Given the description of an element on the screen output the (x, y) to click on. 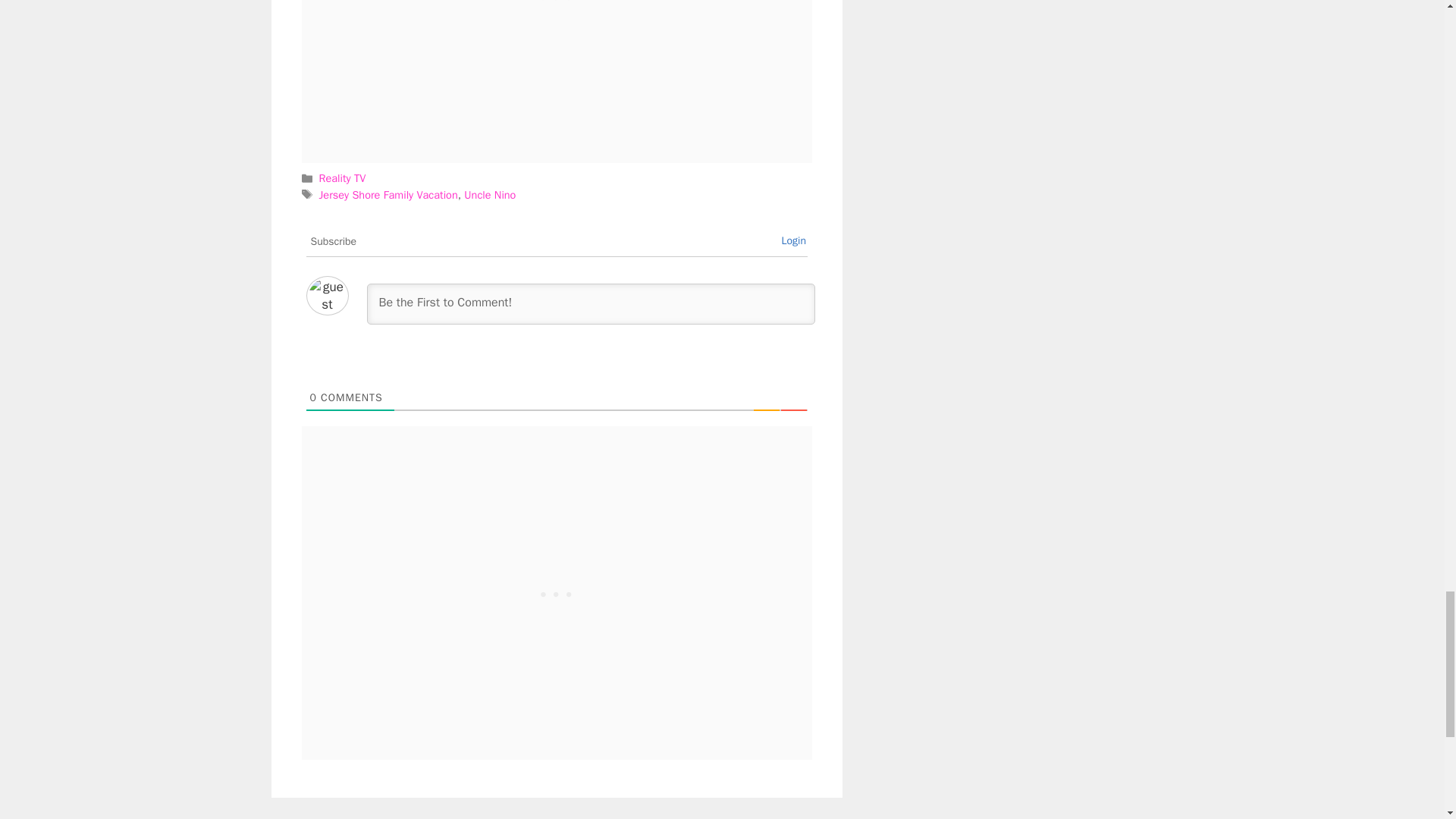
Login (793, 240)
Uncle Nino (489, 194)
Reality TV (342, 178)
Jersey Shore Family Vacation (388, 194)
